Given the description of an element on the screen output the (x, y) to click on. 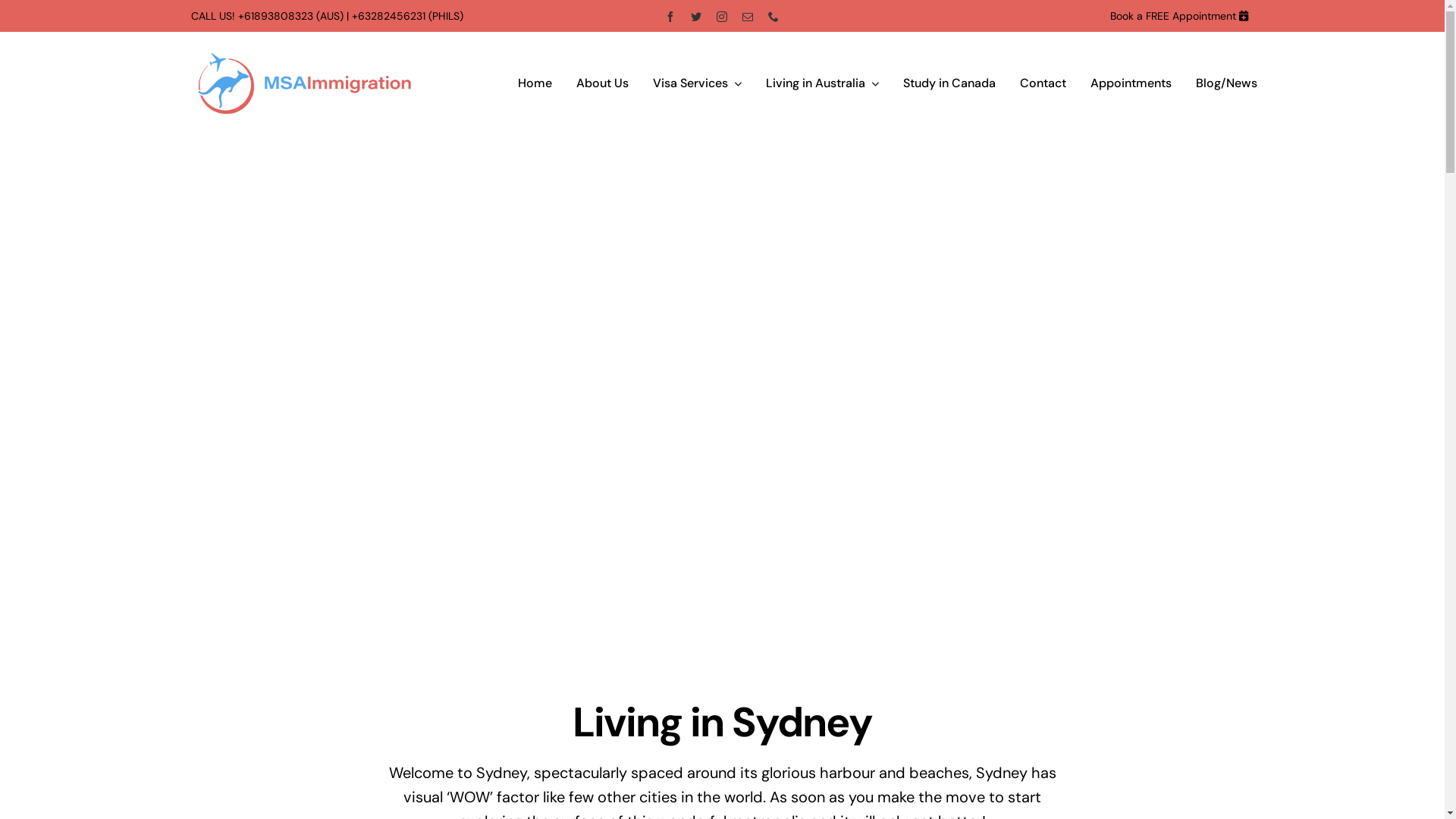
Facebook Element type: hover (670, 15)
Book a FREE Appointment Element type: text (1173, 15)
Phone Element type: hover (773, 15)
Email Element type: hover (747, 15)
Instagram Element type: hover (721, 15)
Twitter Element type: hover (695, 15)
